Given the description of an element on the screen output the (x, y) to click on. 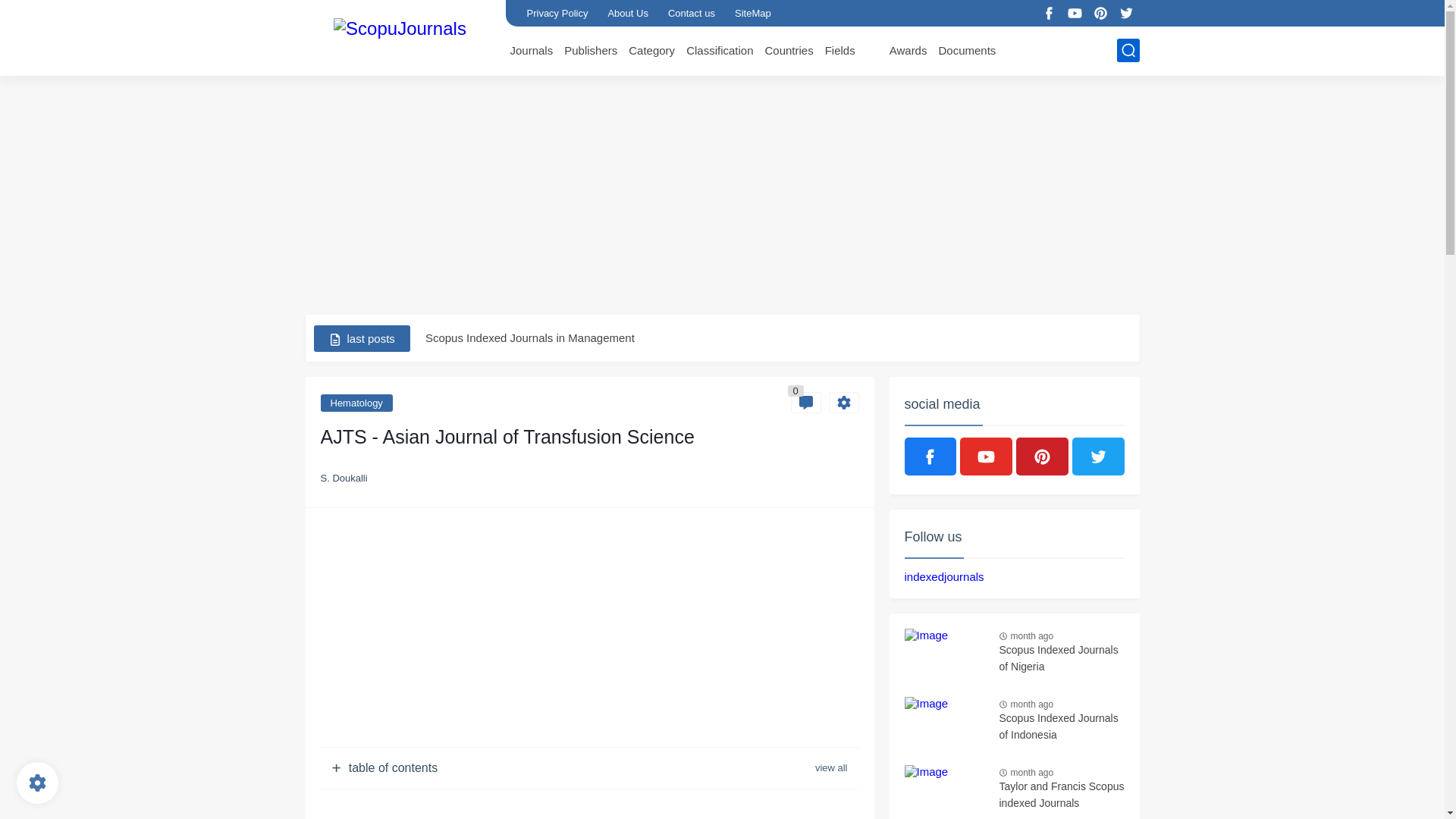
Contact us (691, 12)
Privacy Policy (556, 12)
Documents (966, 50)
Publishers (590, 50)
ScopuJournals (399, 36)
Fields (840, 50)
Category (651, 50)
Category (651, 50)
Fields (840, 50)
Journals (531, 50)
